Given the description of an element on the screen output the (x, y) to click on. 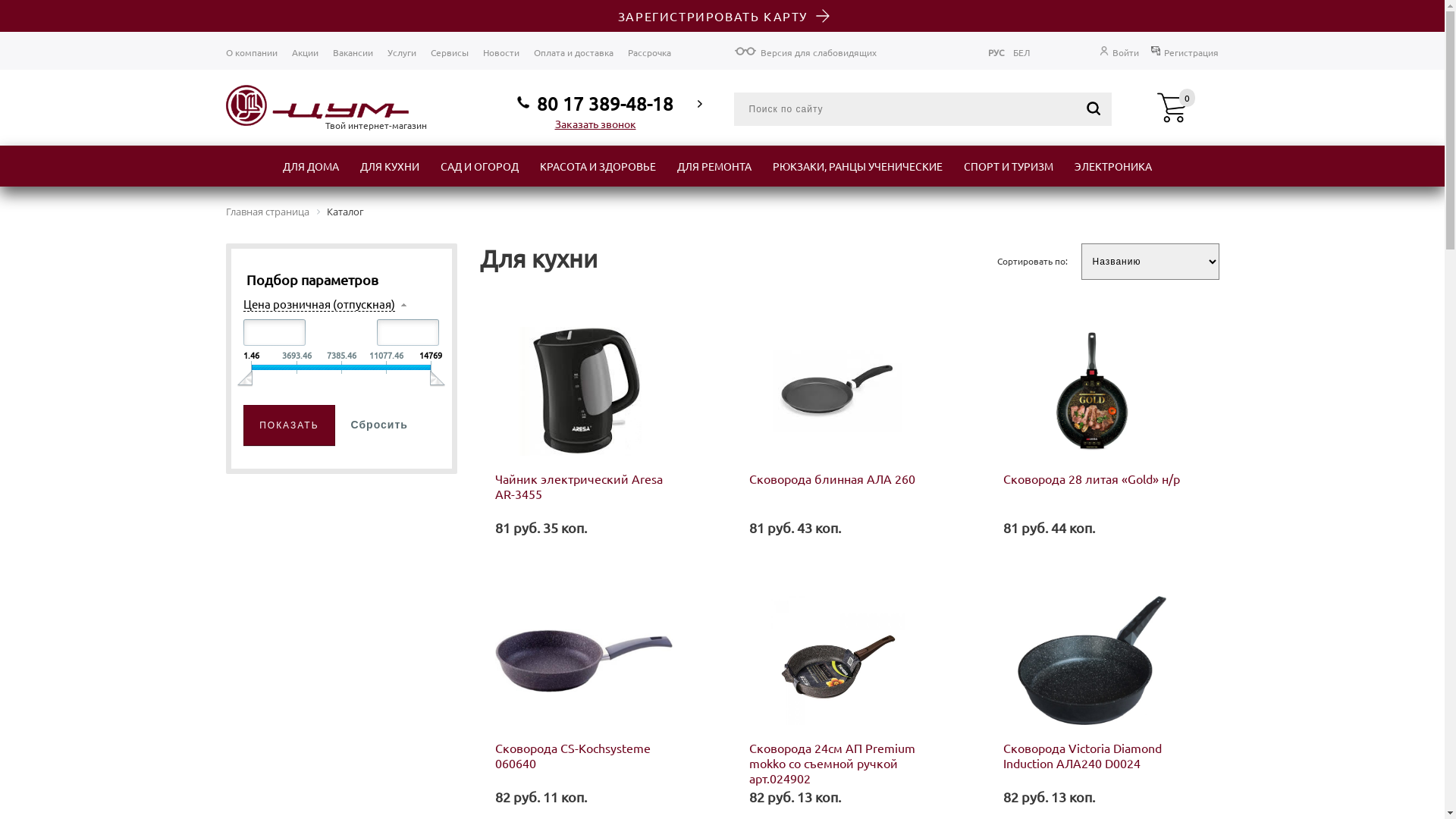
80 17 389-48-18 Element type: text (595, 103)
0 Element type: text (1172, 108)
